Given the description of an element on the screen output the (x, y) to click on. 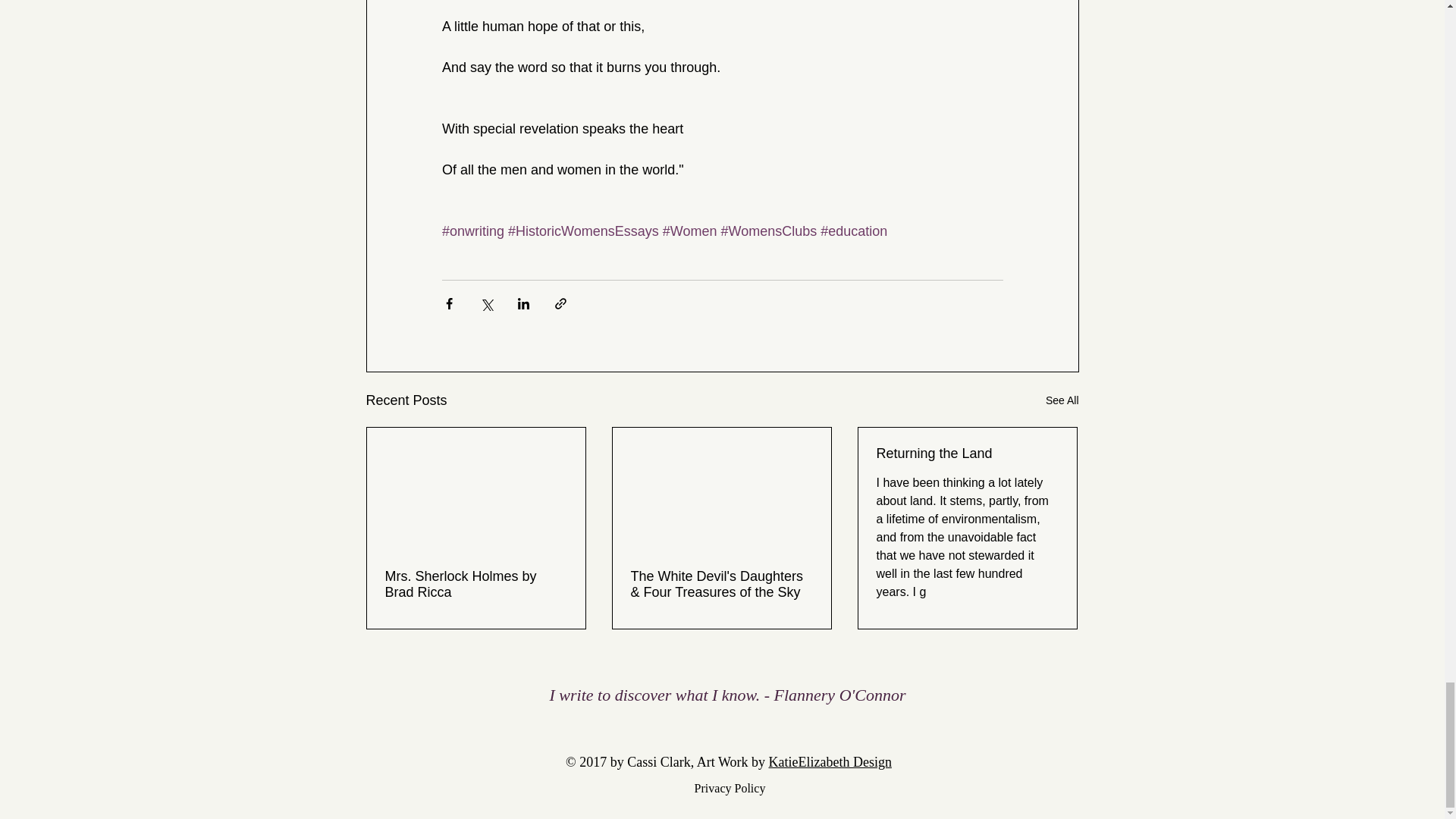
See All (1061, 400)
Returning the Land (967, 453)
Mrs. Sherlock Holmes by Brad Ricca (476, 584)
KatieElizabeth Design (829, 761)
Privacy Policy (729, 788)
